Given the description of an element on the screen output the (x, y) to click on. 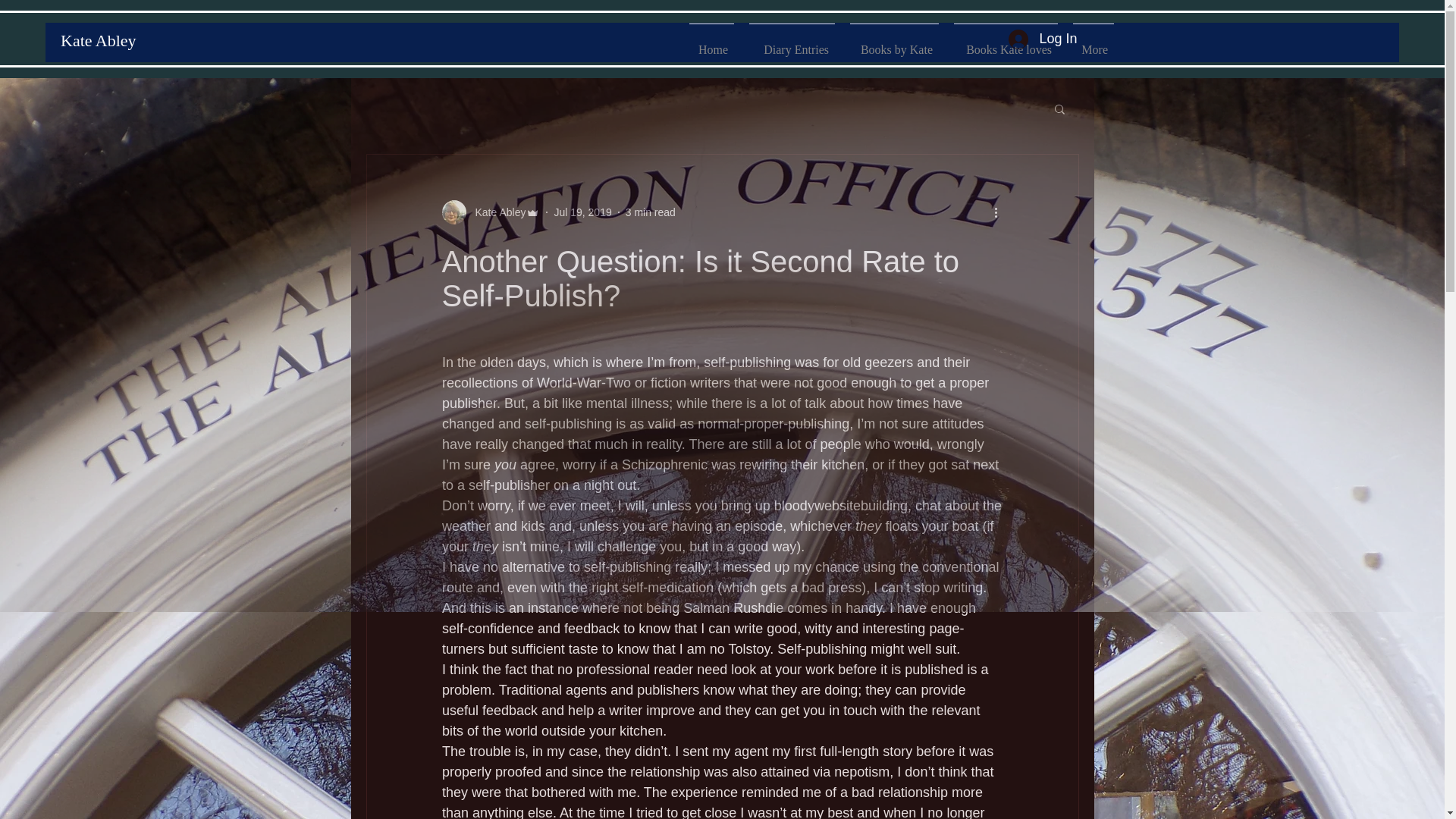
Jul 19, 2019 (582, 212)
Kate Abley (490, 211)
Books by Kate (894, 43)
Kate Abley (98, 40)
Books Kate loves (1005, 43)
Log In (1042, 39)
Home (711, 43)
Diary Entries (792, 43)
Kate Abley (495, 212)
3 min read (650, 212)
